Given the description of an element on the screen output the (x, y) to click on. 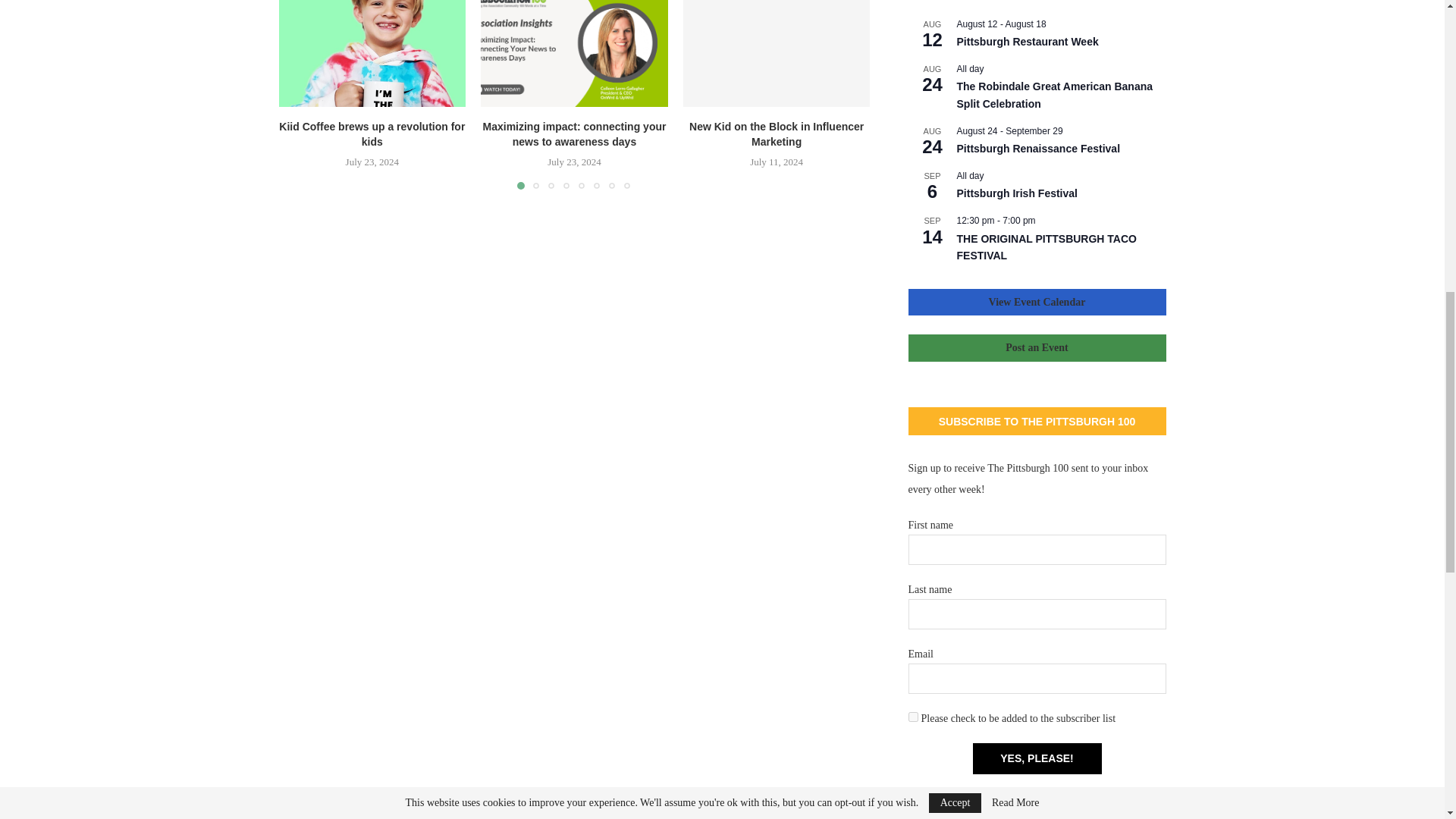
New Kid on the Block in Influencer Marketing (776, 53)
1 (913, 716)
YES, PLEASE! (1036, 757)
Kiid Coffee brews up a revolution for kids (372, 53)
Maximizing impact: connecting your news to awareness days (574, 53)
